Given the description of an element on the screen output the (x, y) to click on. 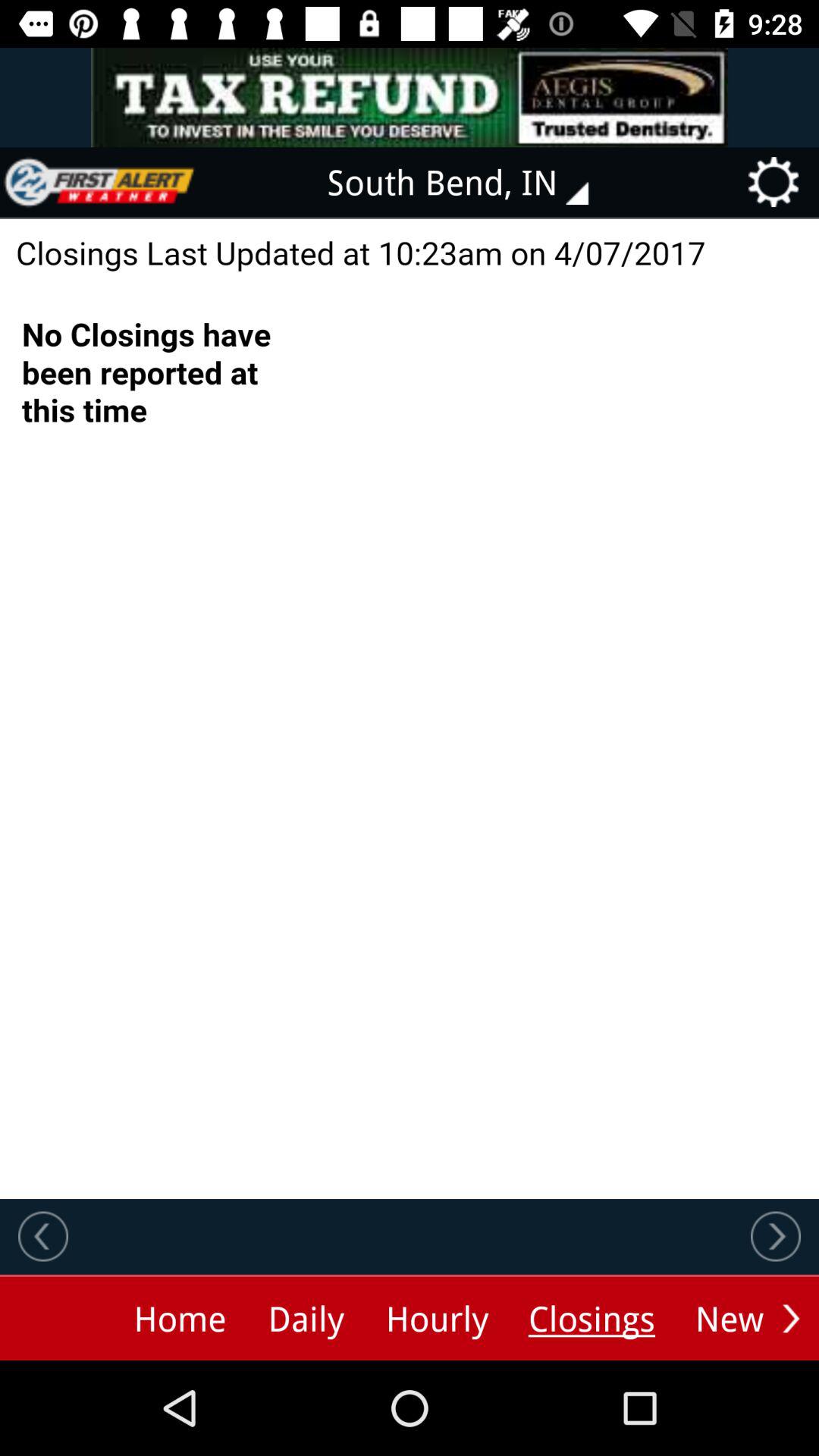
next menu (791, 1318)
